Given the description of an element on the screen output the (x, y) to click on. 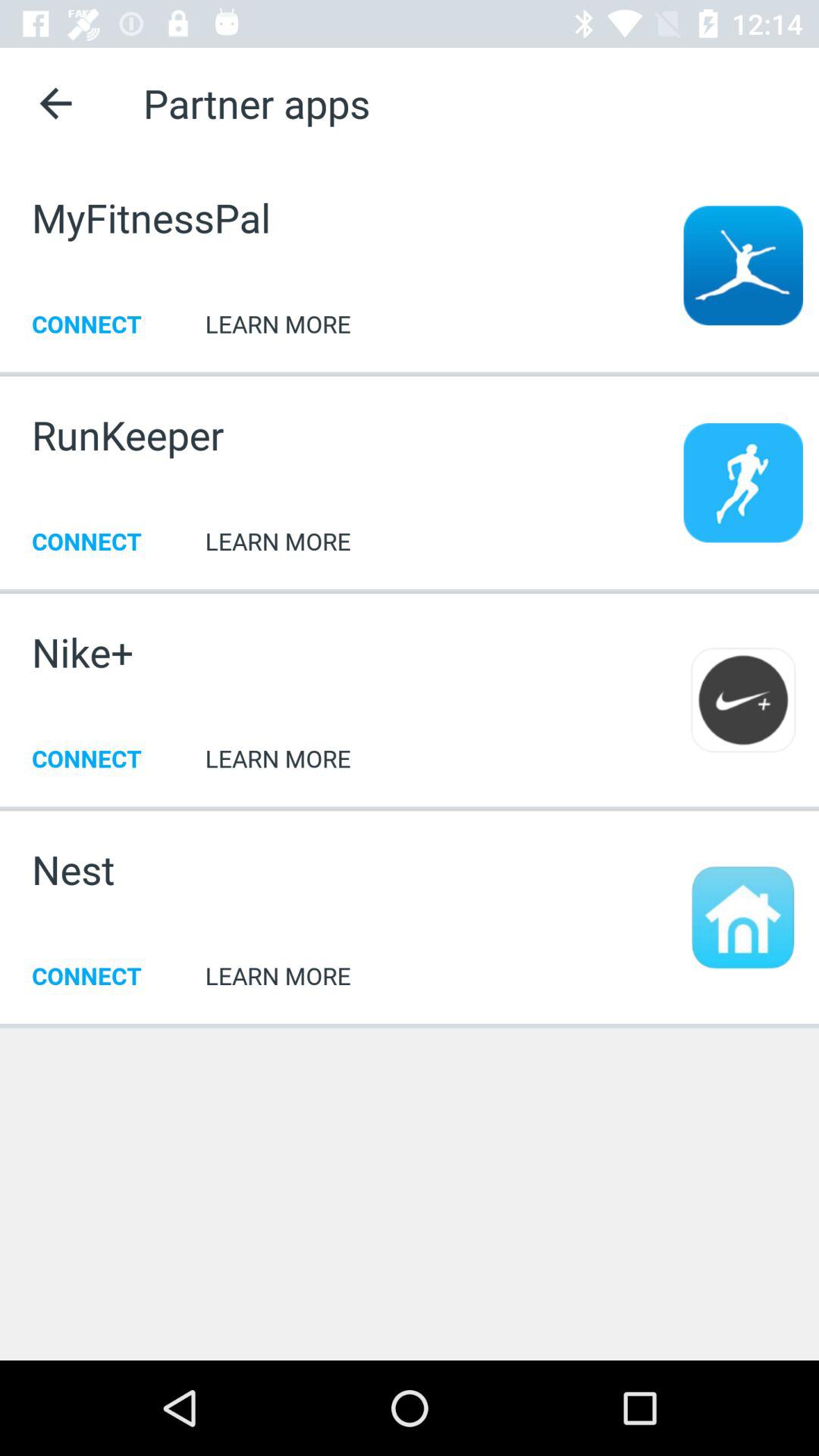
jump to the runkeeper (127, 434)
